Given the description of an element on the screen output the (x, y) to click on. 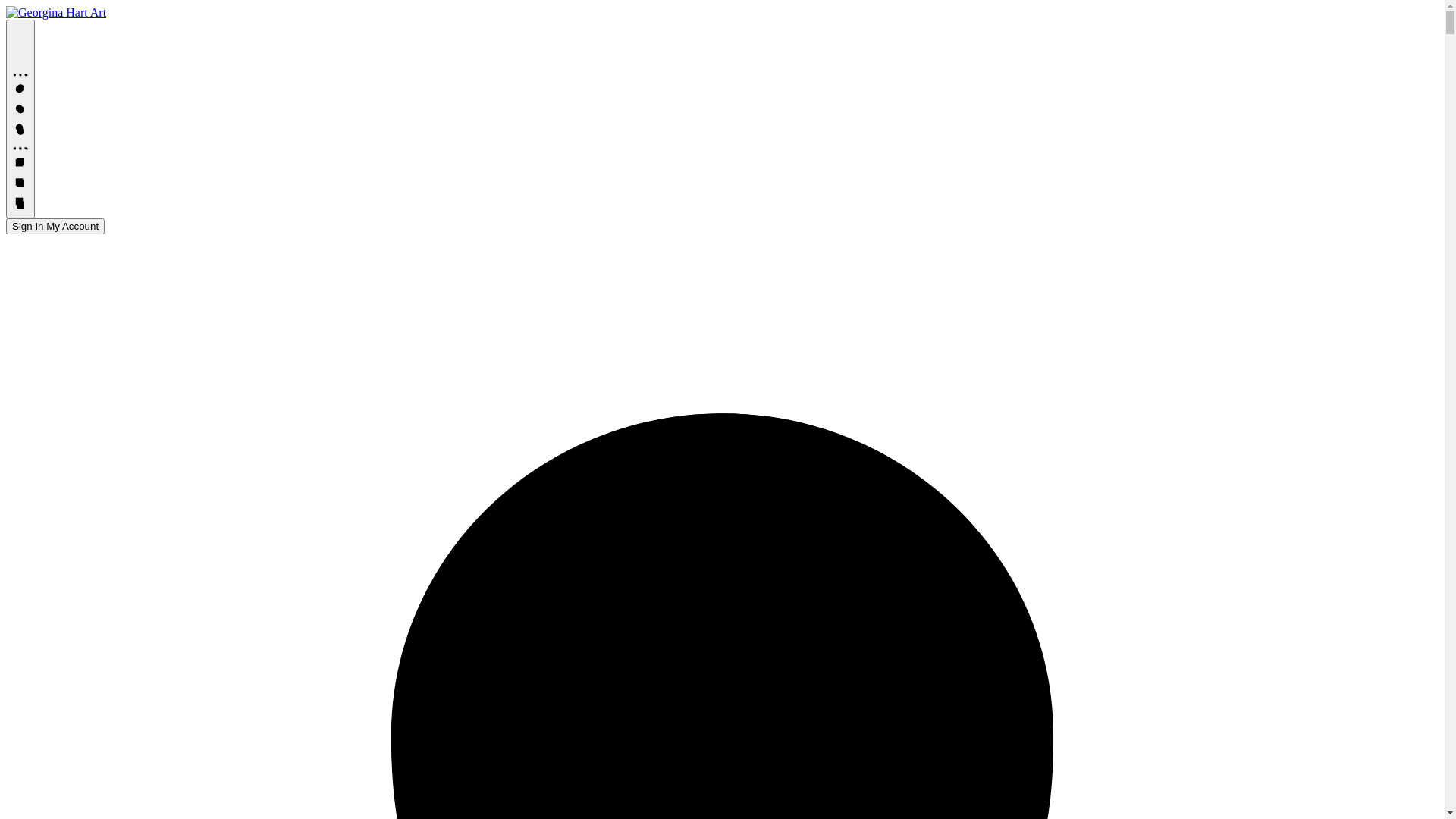
Sign In My Account Element type: text (55, 226)
